Given the description of an element on the screen output the (x, y) to click on. 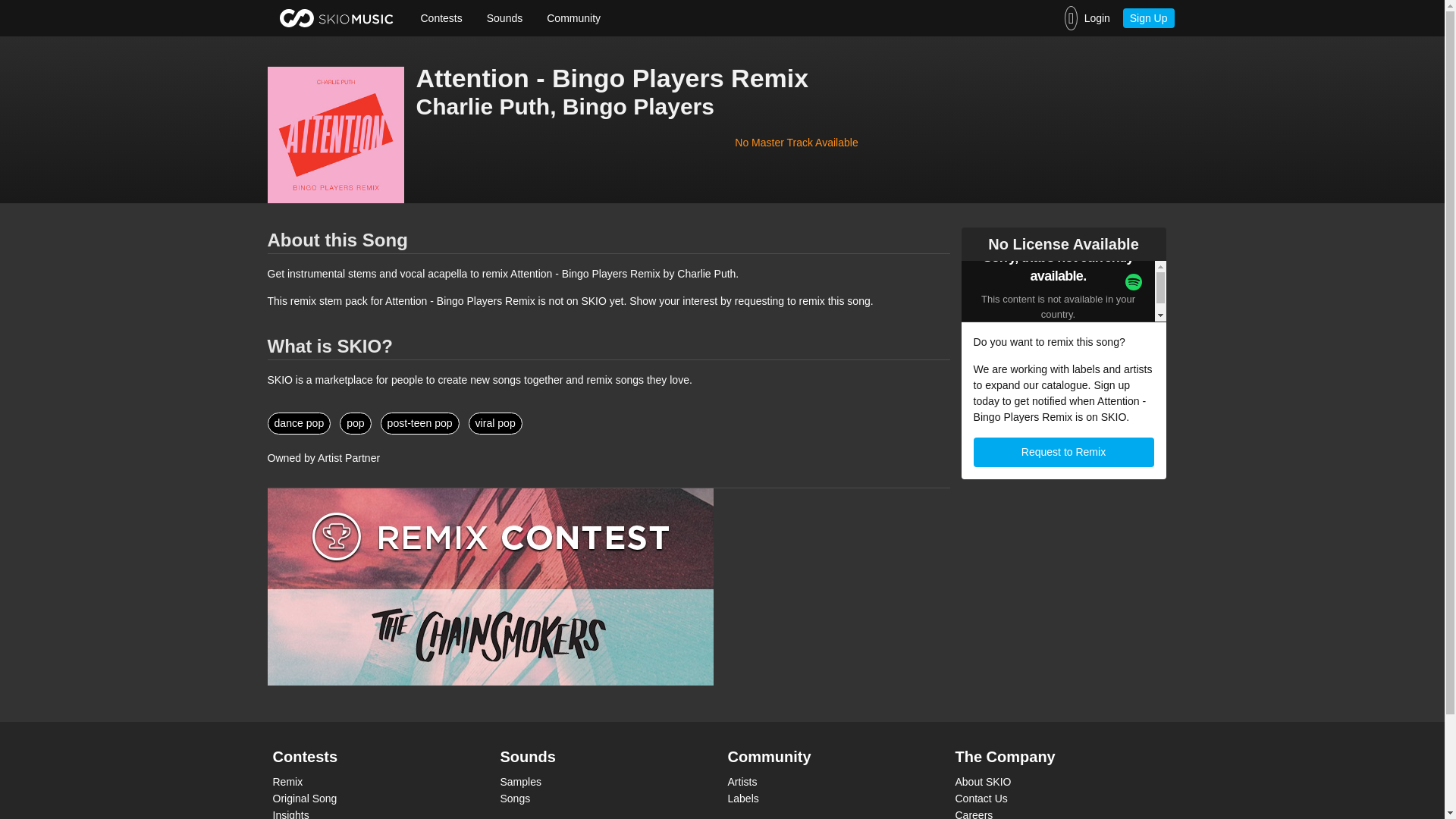
viral pop (495, 423)
Login (1086, 17)
Sounds (504, 18)
Contests (440, 18)
pop (355, 423)
Sign Up (1148, 17)
post-teen pop (420, 423)
Community (573, 18)
Request to Remix (1064, 452)
dance pop (298, 423)
